Given the description of an element on the screen output the (x, y) to click on. 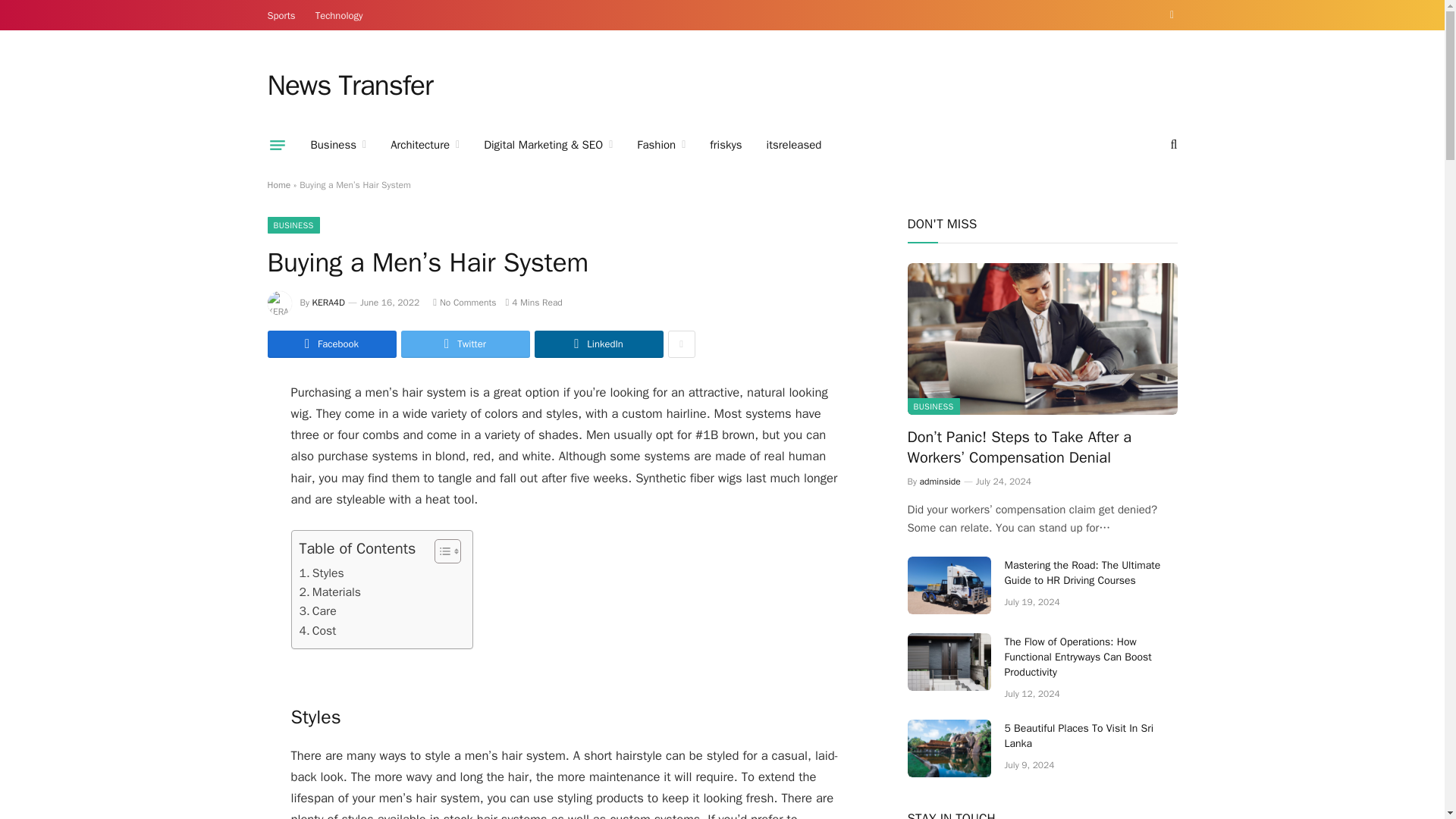
News Transfer (349, 85)
Business (338, 144)
Technology (338, 15)
Switch to Dark Design - easier on eyes. (1169, 14)
News Transfer (349, 85)
Sports (281, 15)
Share on Facebook (331, 343)
Share on LinkedIn (598, 343)
Posts by KERA4D (329, 302)
